Given the description of an element on the screen output the (x, y) to click on. 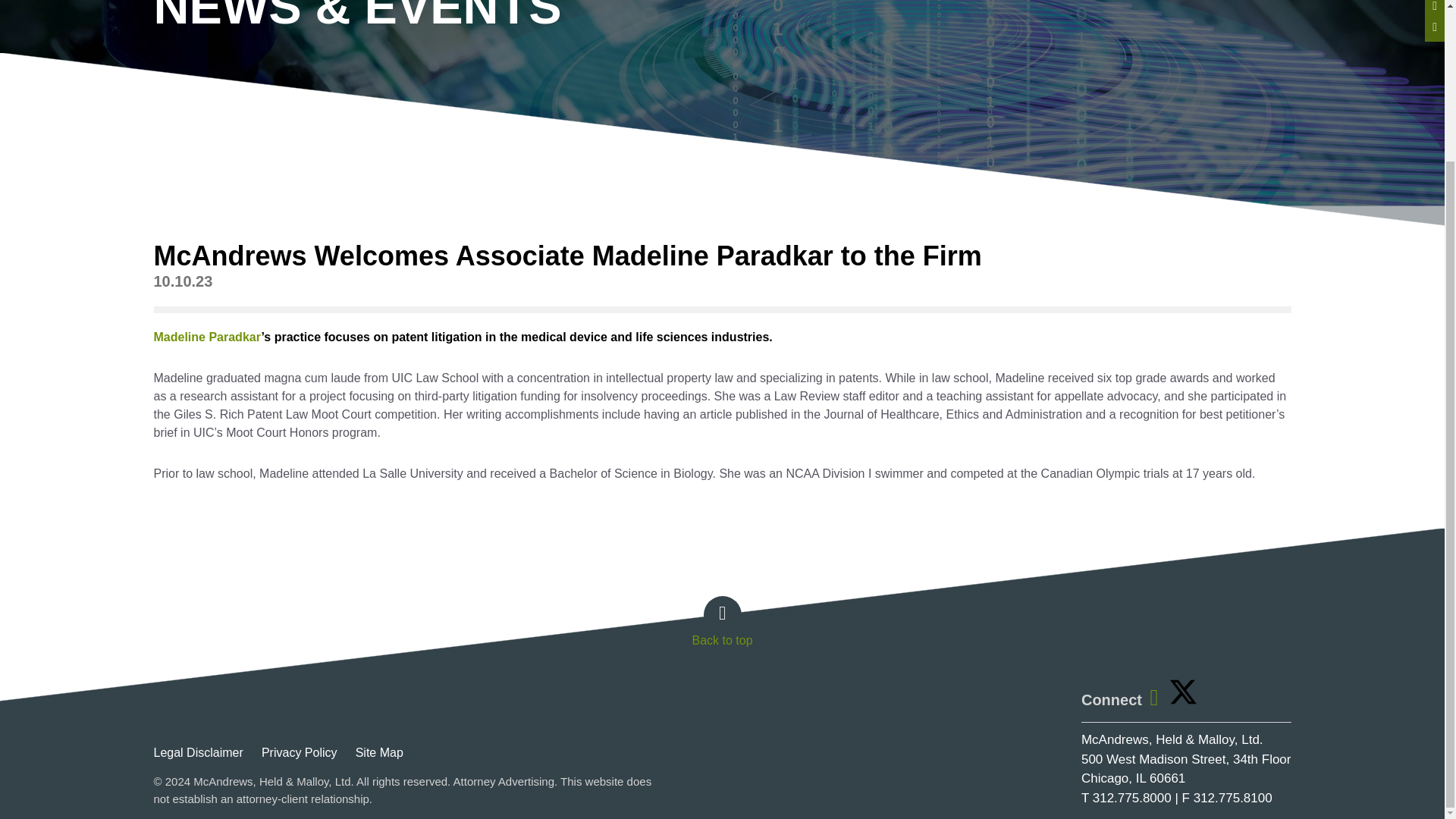
Madeline Paradkar (206, 336)
Back to top (720, 627)
Legal Disclaimer (204, 752)
Privacy Policy (307, 752)
Site Map (387, 752)
